Given the description of an element on the screen output the (x, y) to click on. 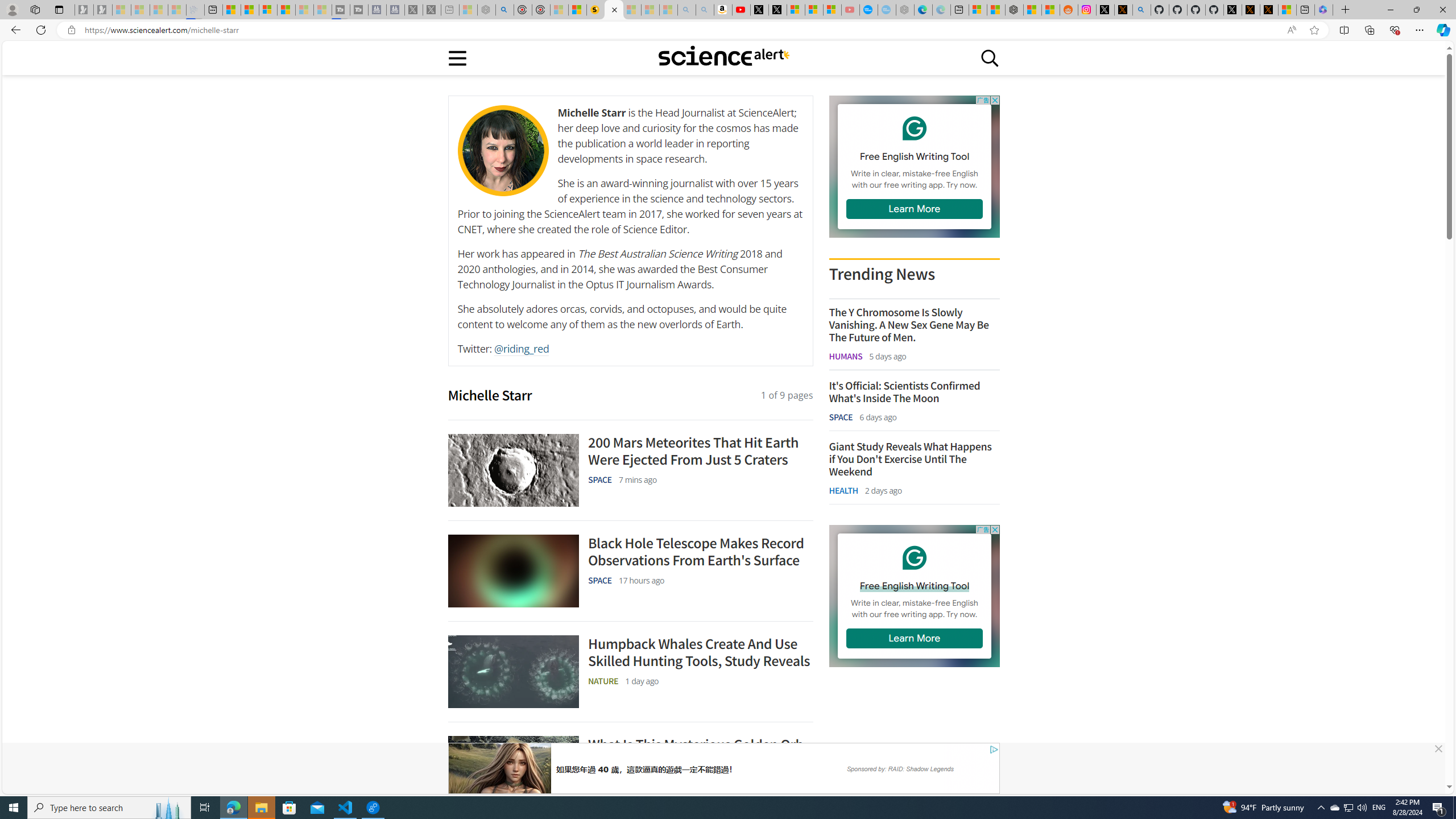
NATURE (603, 780)
@riding_red (520, 348)
HUMANS (845, 355)
Nordace - Duffels (1013, 9)
Michelle Starr, Senior Journalist at ScienceAlert (613, 9)
ScienceAlert homepage (723, 57)
Class: sciencealert-logo-desktop-svg  (723, 55)
HEALTH (842, 490)
